Given the description of an element on the screen output the (x, y) to click on. 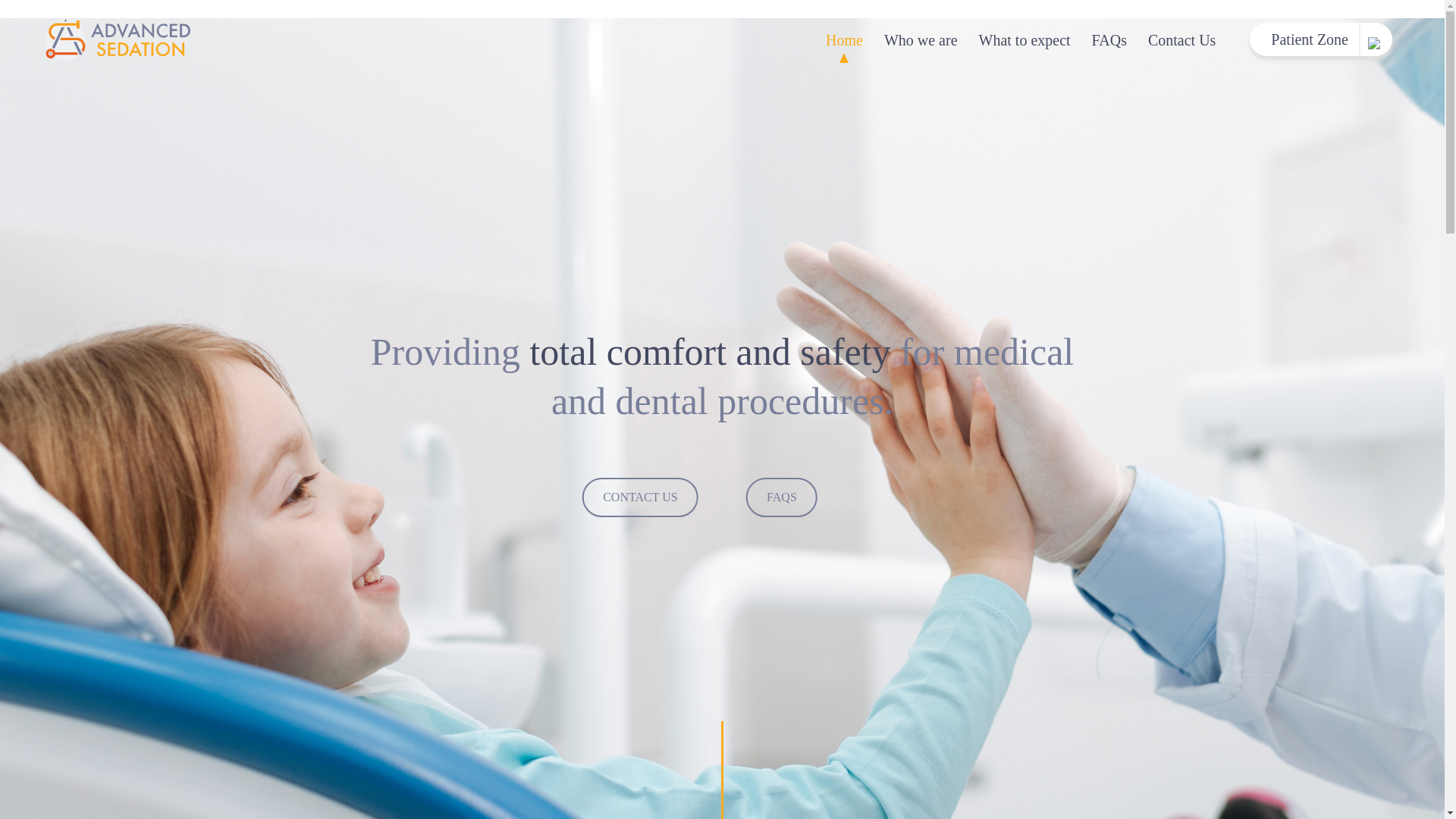
Patient Zone (1320, 39)
CONTACT US (639, 496)
Contact Us (1181, 45)
FAQS (780, 496)
Who we are (920, 45)
Home (844, 45)
FAQs (1109, 45)
What to expect (1024, 45)
